Given the description of an element on the screen output the (x, y) to click on. 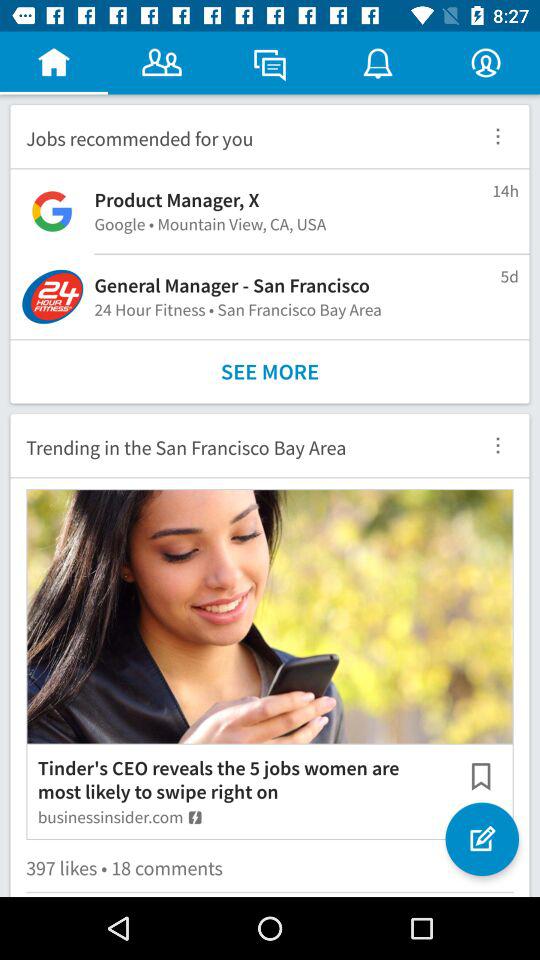
open see more icon (269, 371)
